Given the description of an element on the screen output the (x, y) to click on. 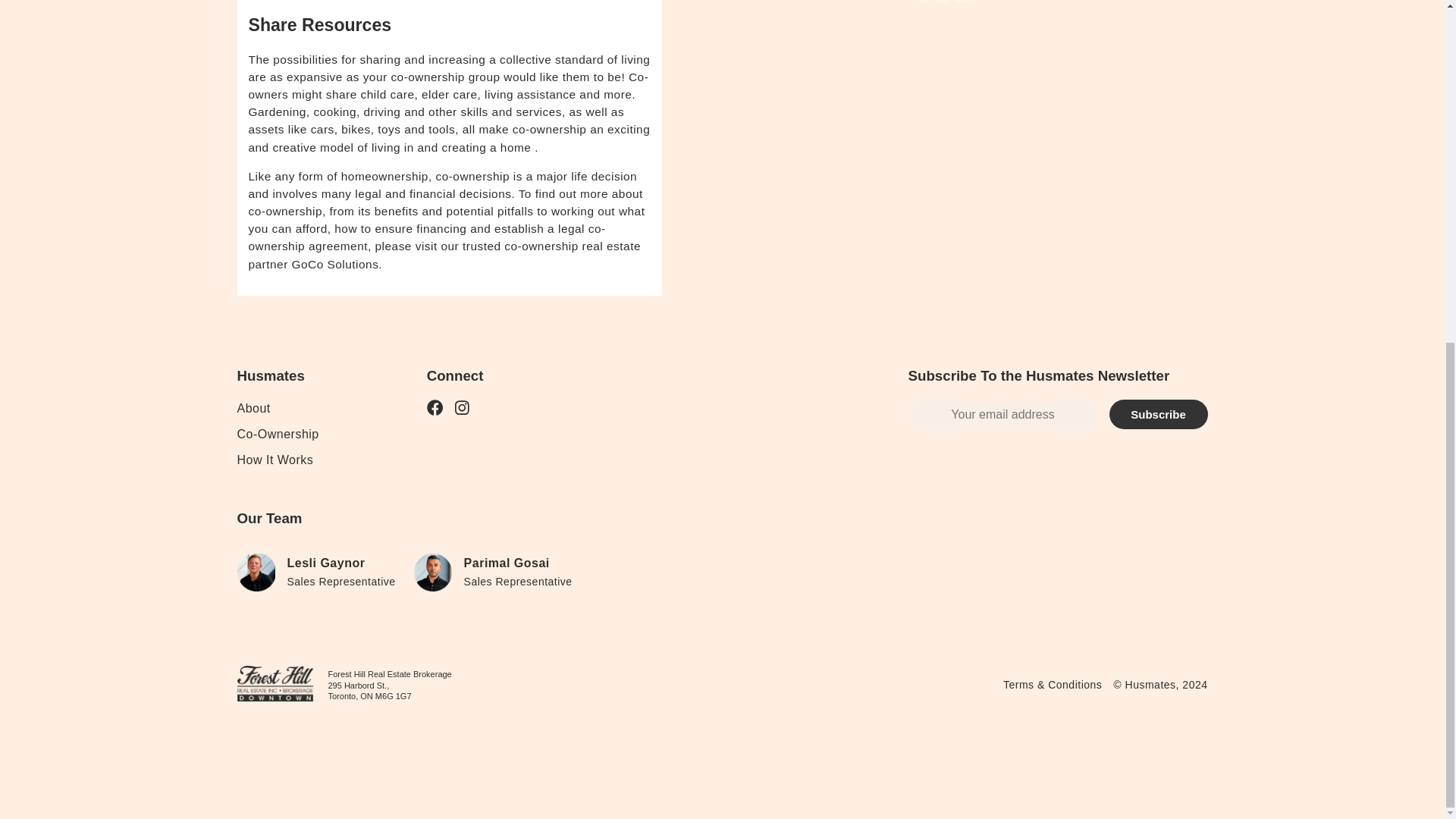
Co-Ownership (276, 433)
GoCo Solutions (335, 264)
Subscribe (1157, 414)
How It Works (274, 459)
About (252, 408)
